Given the description of an element on the screen output the (x, y) to click on. 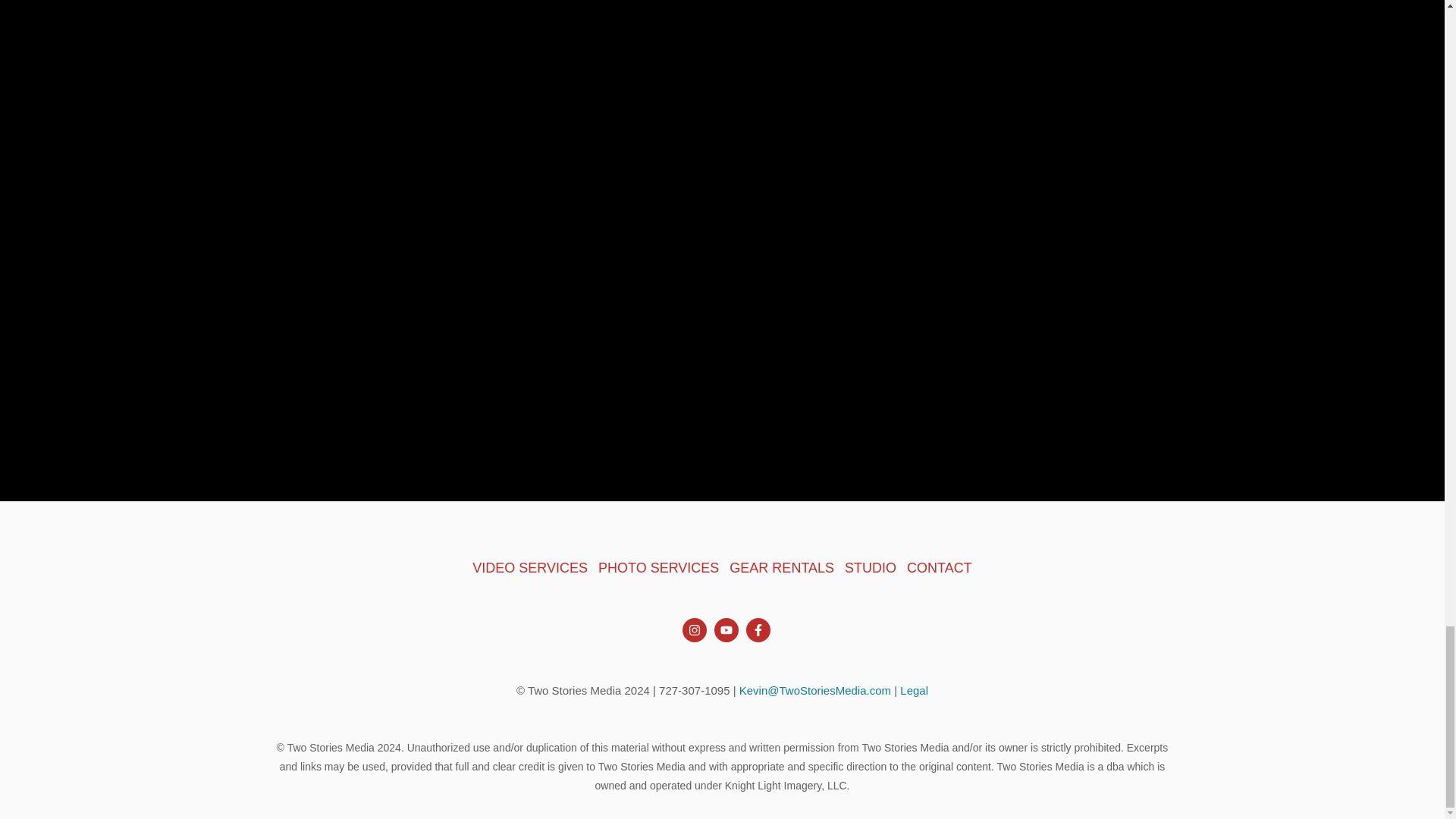
STUDIO (870, 567)
CONTACT (939, 567)
GEAR RENTALS (781, 567)
VIDEO SERVICES (529, 567)
727-307-1095 (694, 689)
Legal (913, 689)
PHOTO SERVICES (658, 567)
